Given the description of an element on the screen output the (x, y) to click on. 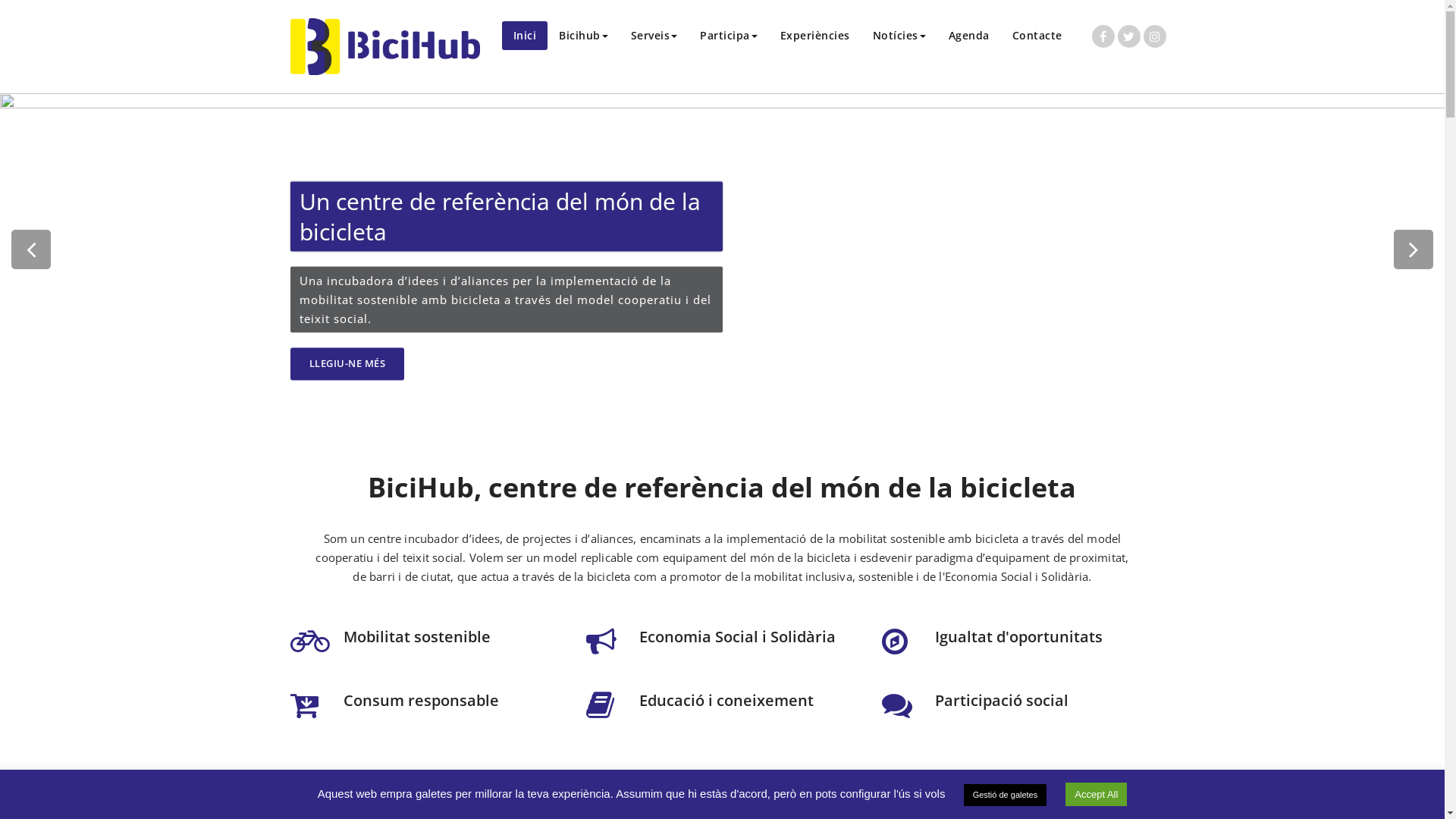
Contacte Element type: text (1037, 35)
Serveis Element type: text (653, 35)
Inici Element type: text (525, 35)
Accept All Element type: text (1095, 794)
Participa Element type: text (728, 35)
Agenda Element type: text (969, 35)
Bicihub Element type: text (583, 35)
